Given the description of an element on the screen output the (x, y) to click on. 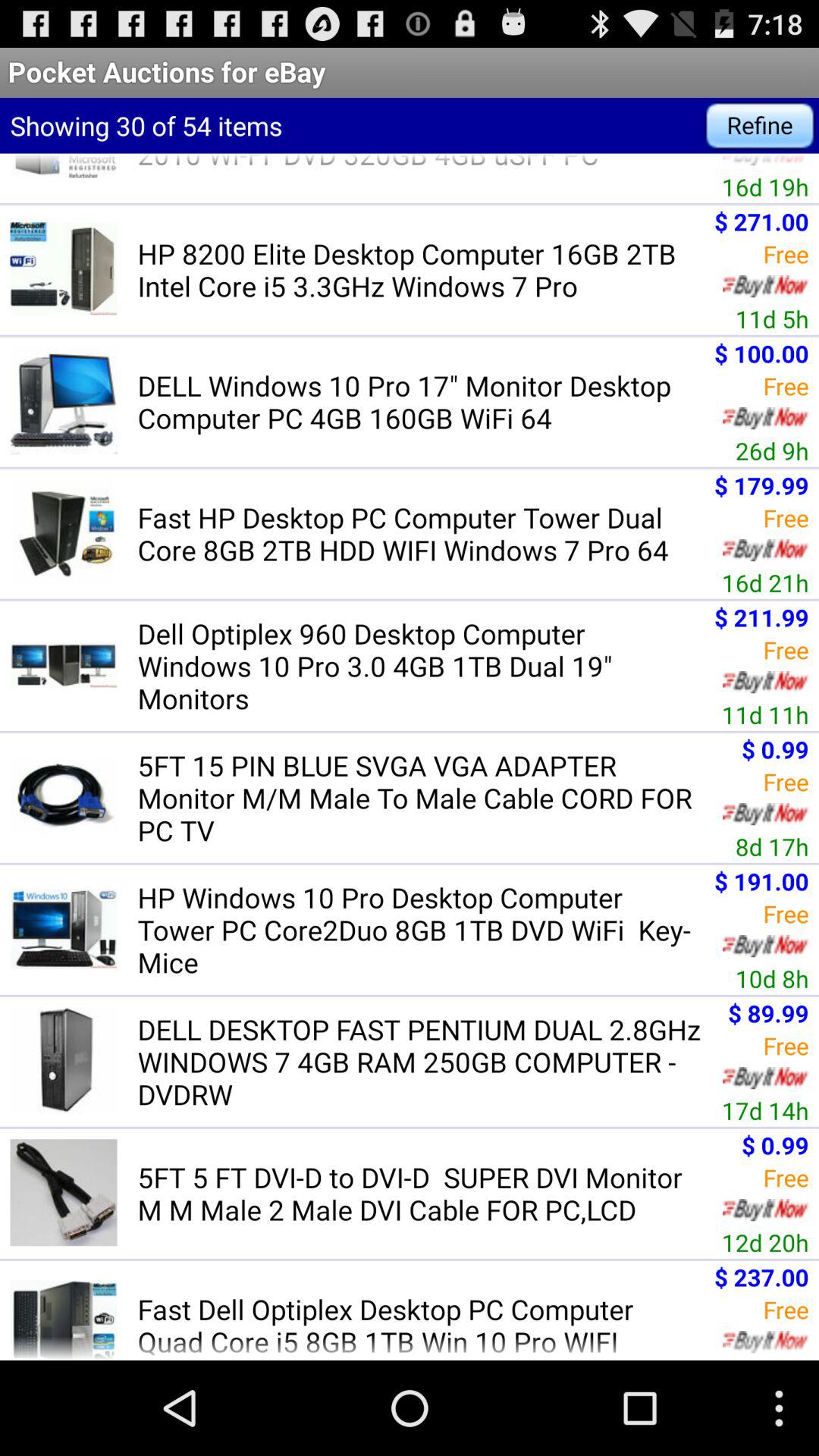
press the app next to dell windows 10 icon (771, 450)
